Given the description of an element on the screen output the (x, y) to click on. 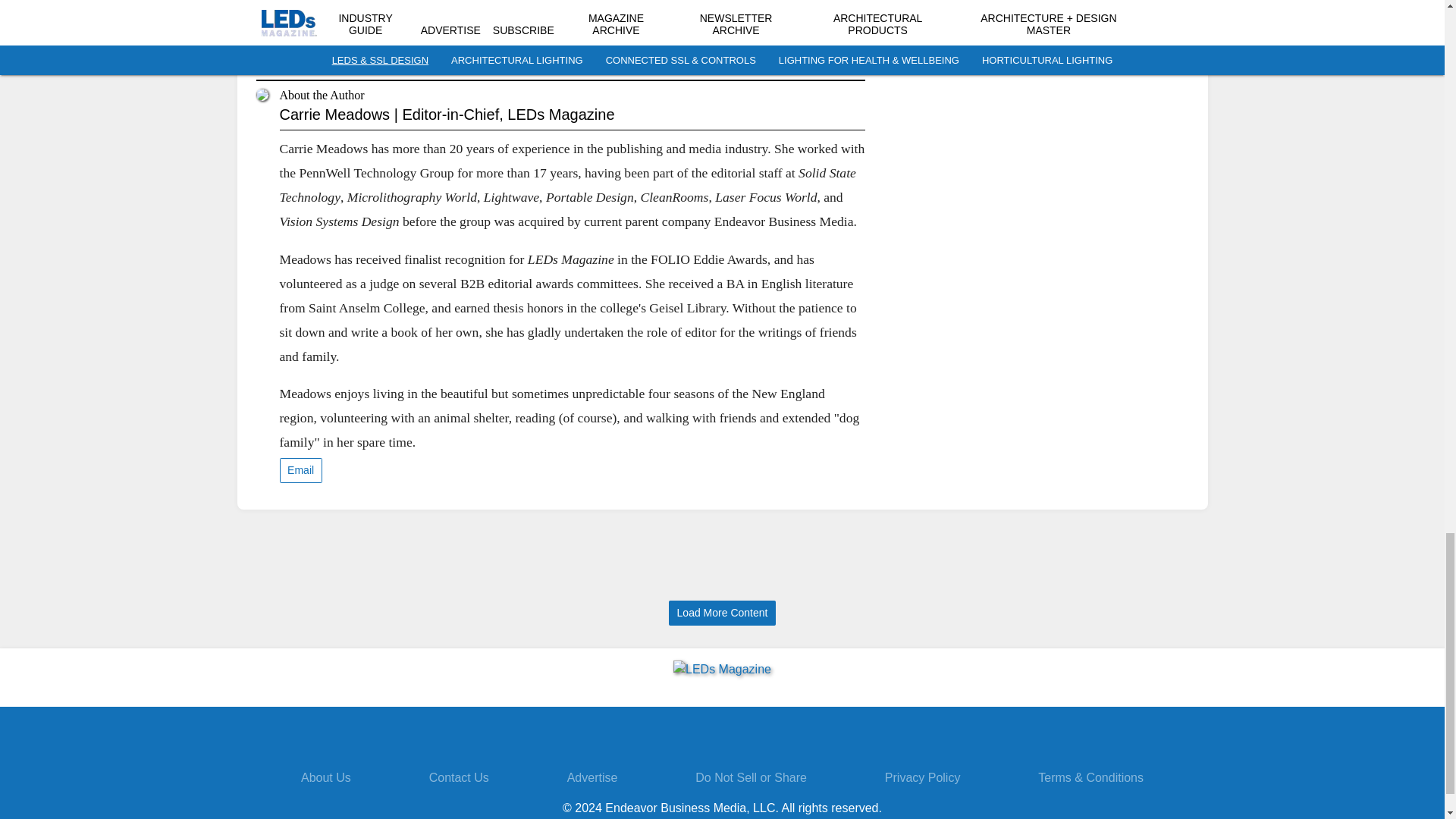
Email (300, 470)
